Given the description of an element on the screen output the (x, y) to click on. 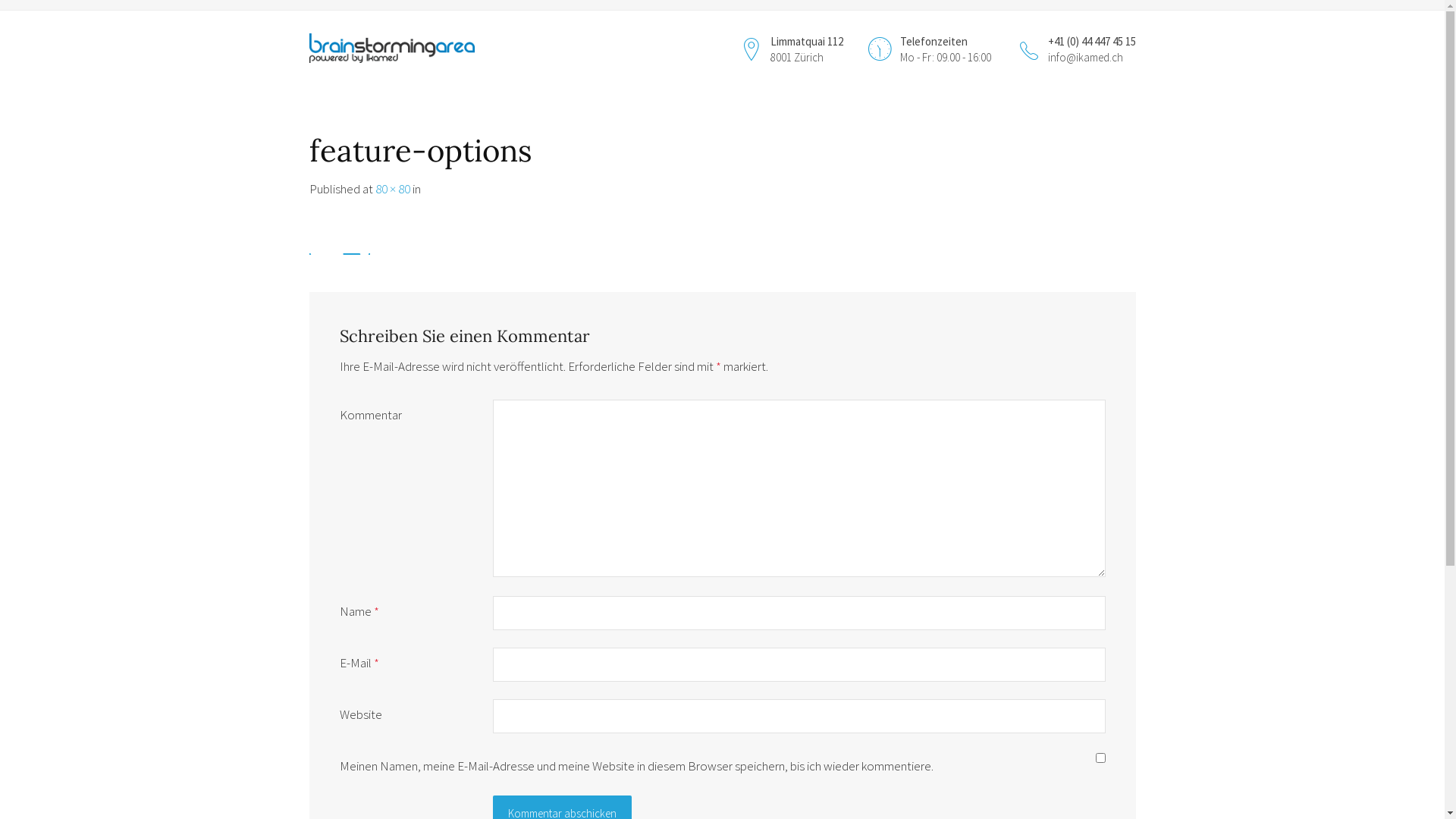
info@ikamed.ch Element type: text (1085, 57)
